Given the description of an element on the screen output the (x, y) to click on. 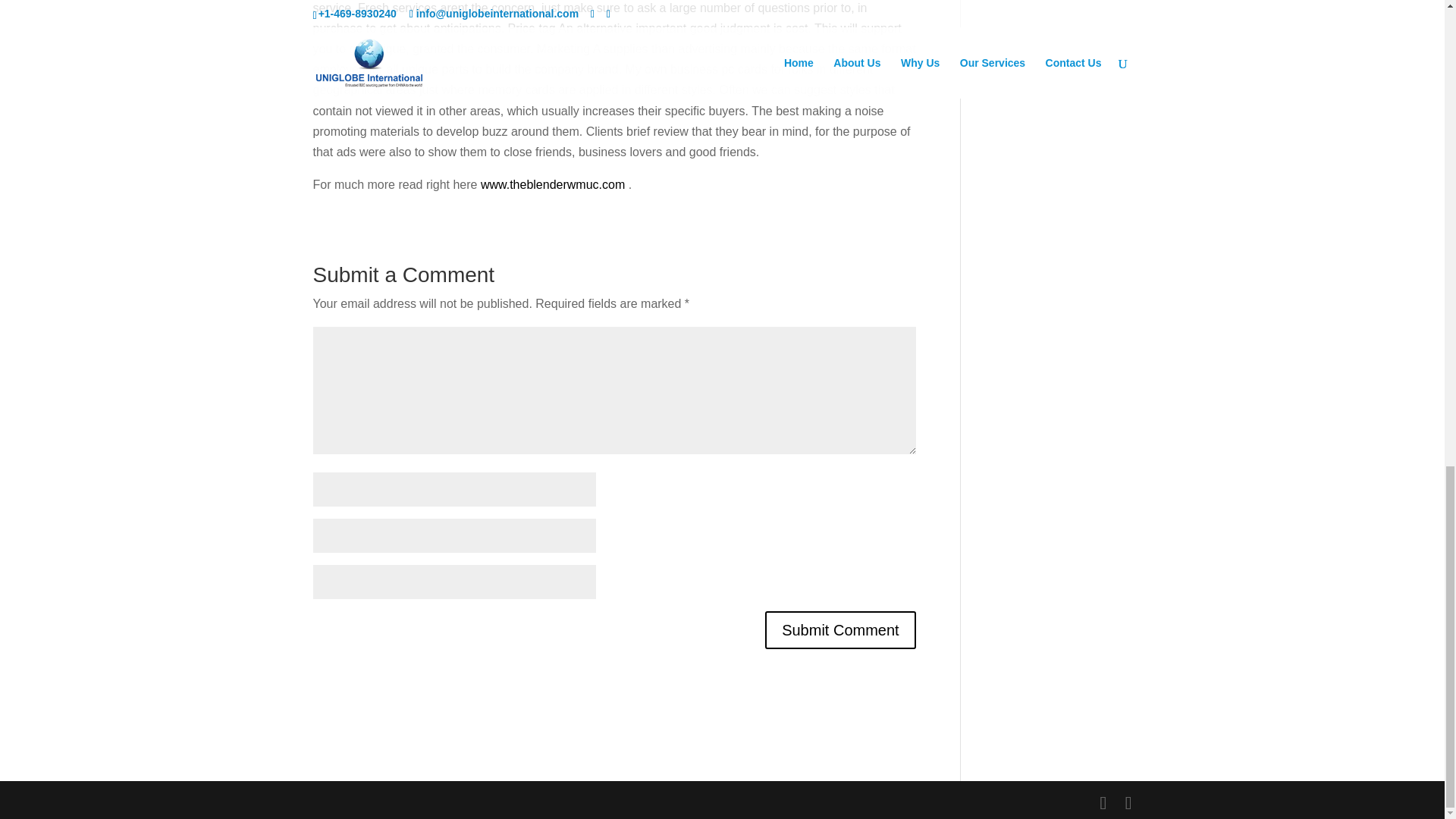
Submit Comment (840, 629)
Submit Comment (840, 629)
www.theblenderwmuc.com (552, 184)
